Given the description of an element on the screen output the (x, y) to click on. 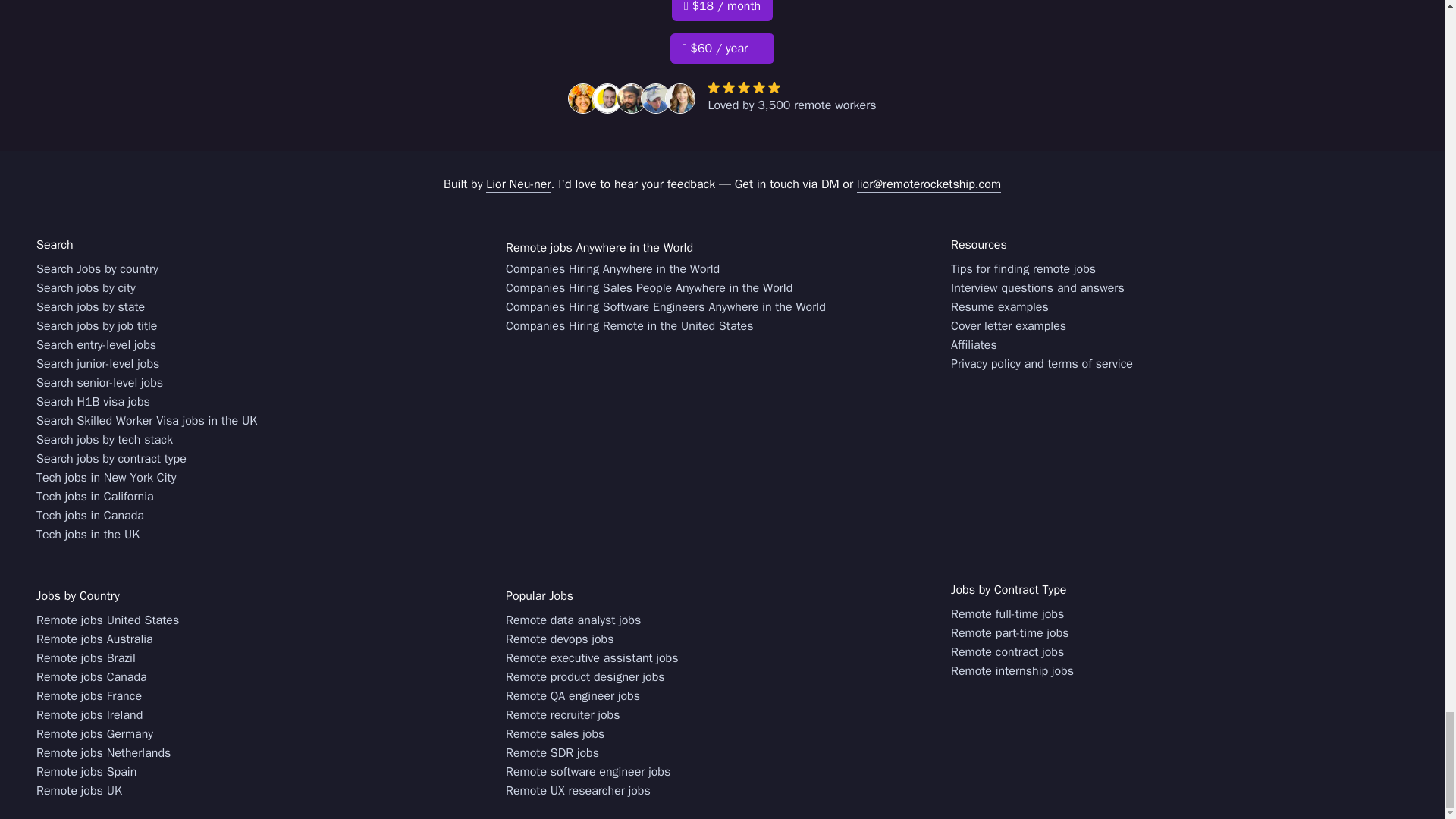
Search jobs by city (85, 288)
Search Jobs by country (97, 269)
Lior Neu-ner (518, 184)
